Given the description of an element on the screen output the (x, y) to click on. 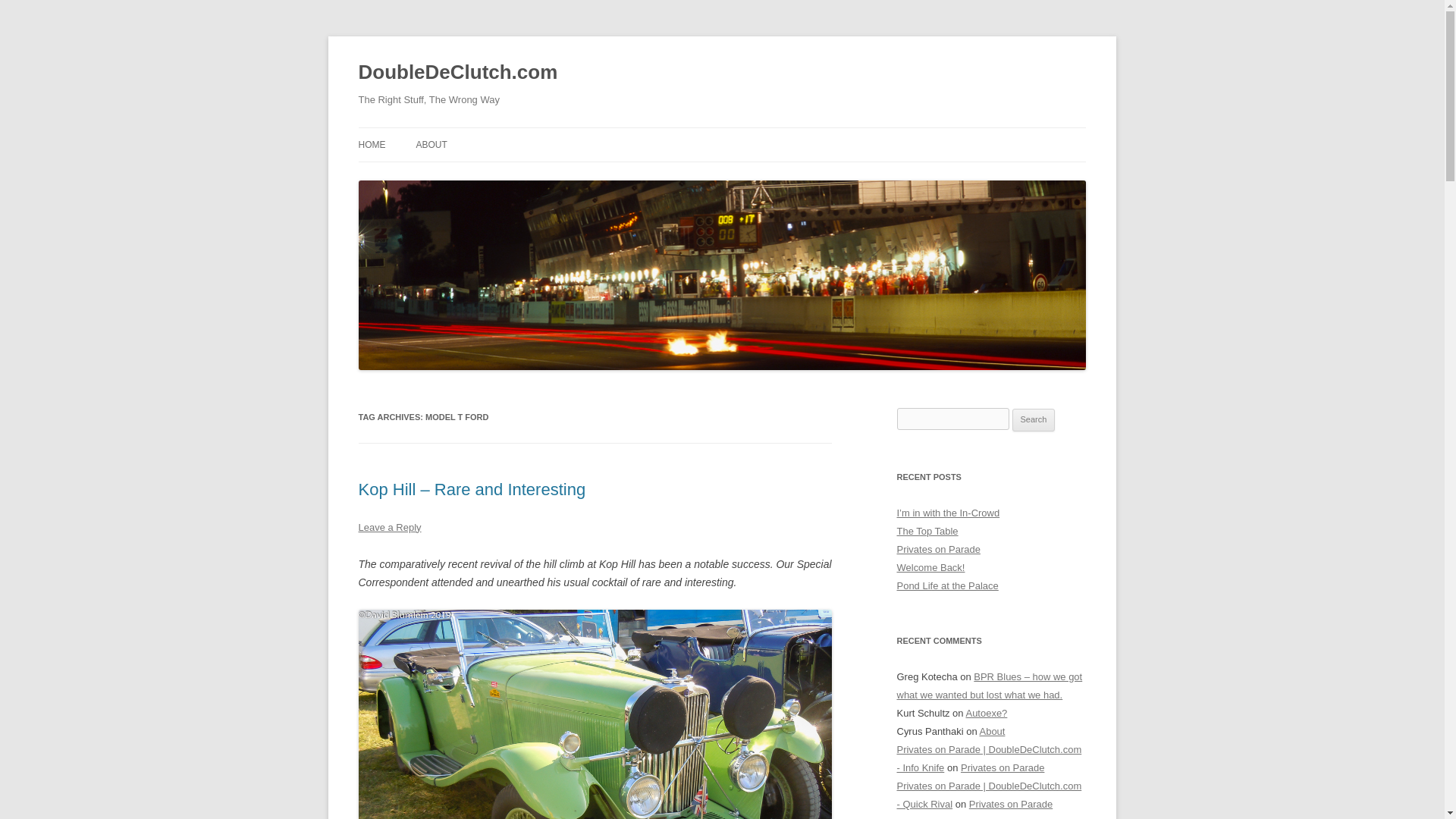
DoubleDeClutch.com (457, 72)
Privates on Parade (1001, 767)
Pond Life at the Palace (946, 585)
Privates on Parade (1010, 803)
ABOUT (430, 144)
About (992, 731)
Search (1033, 419)
Welcome Back! (929, 567)
The Top Table (927, 531)
